Given the description of an element on the screen output the (x, y) to click on. 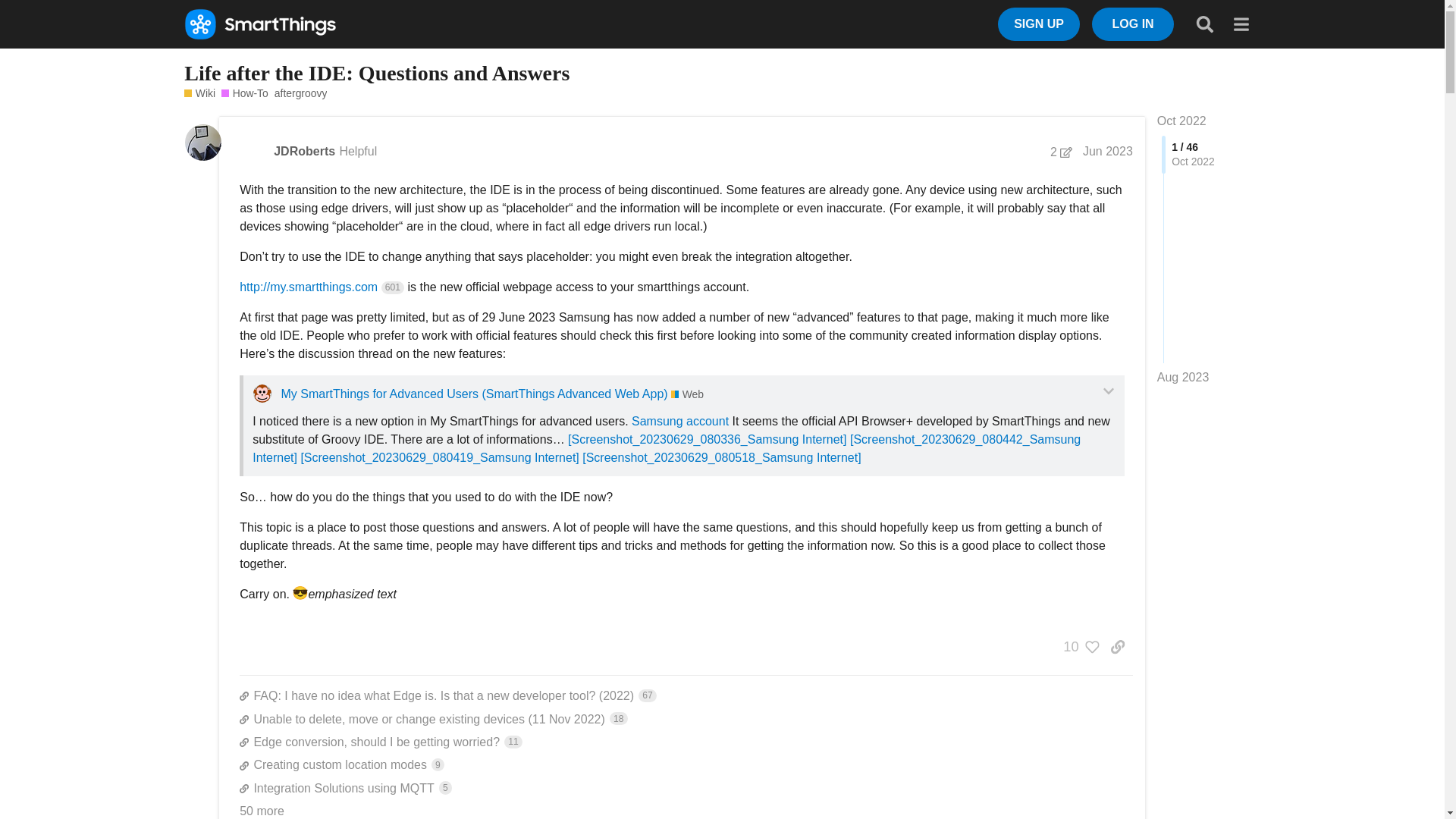
Jump to the last post (1183, 377)
2 (1061, 151)
Aug 2023 (1183, 377)
Wiki (199, 93)
Search (1204, 23)
Jump to the first post (1182, 120)
JDRoberts (686, 764)
:sunglasses: (303, 151)
Life after the IDE: Questions and Answers (299, 592)
SIGN UP (376, 73)
50 more (1038, 23)
Oct 2022 (261, 810)
How-To (1182, 120)
